Given the description of an element on the screen output the (x, y) to click on. 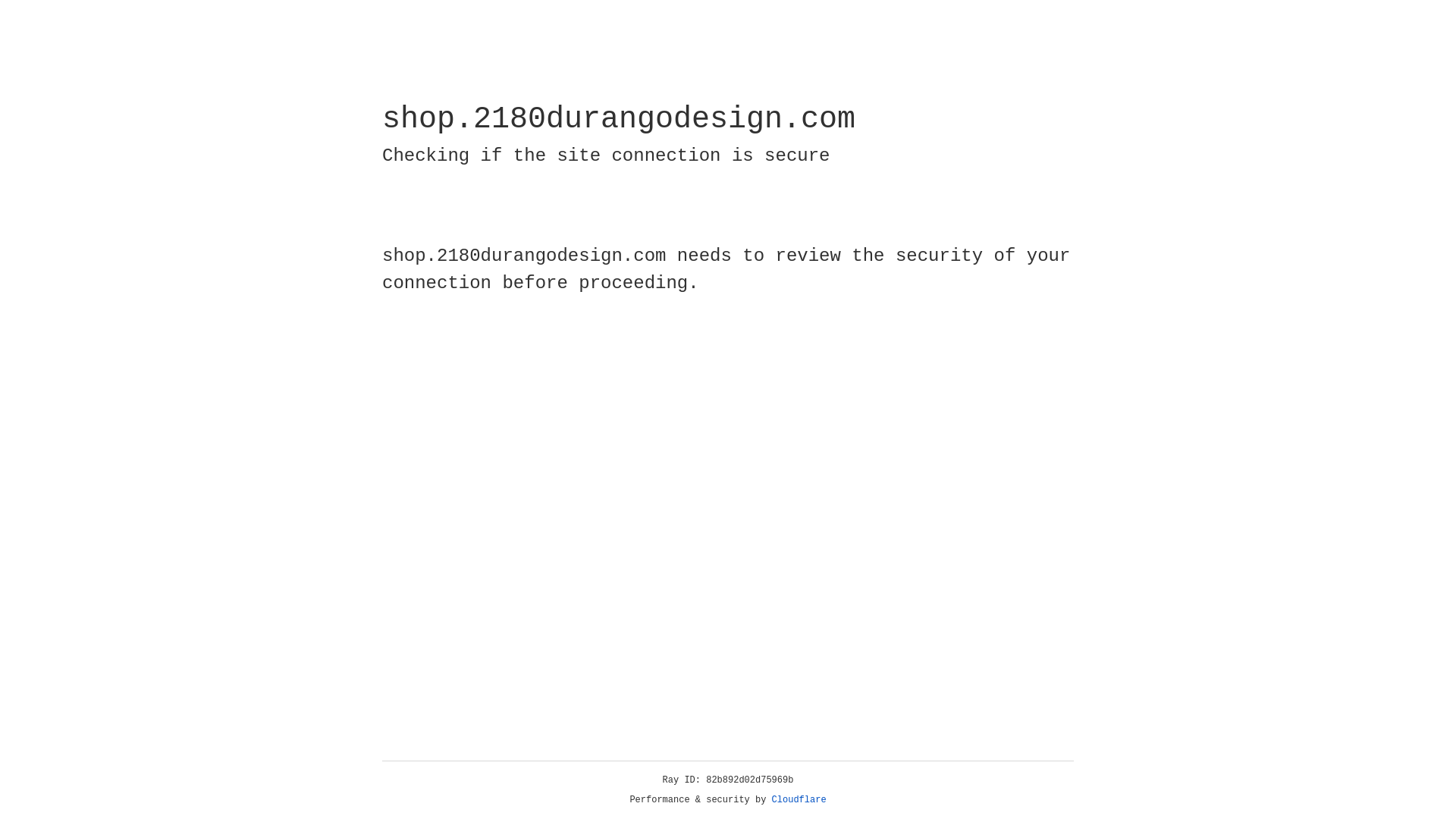
Cloudflare Element type: text (798, 799)
